Given the description of an element on the screen output the (x, y) to click on. 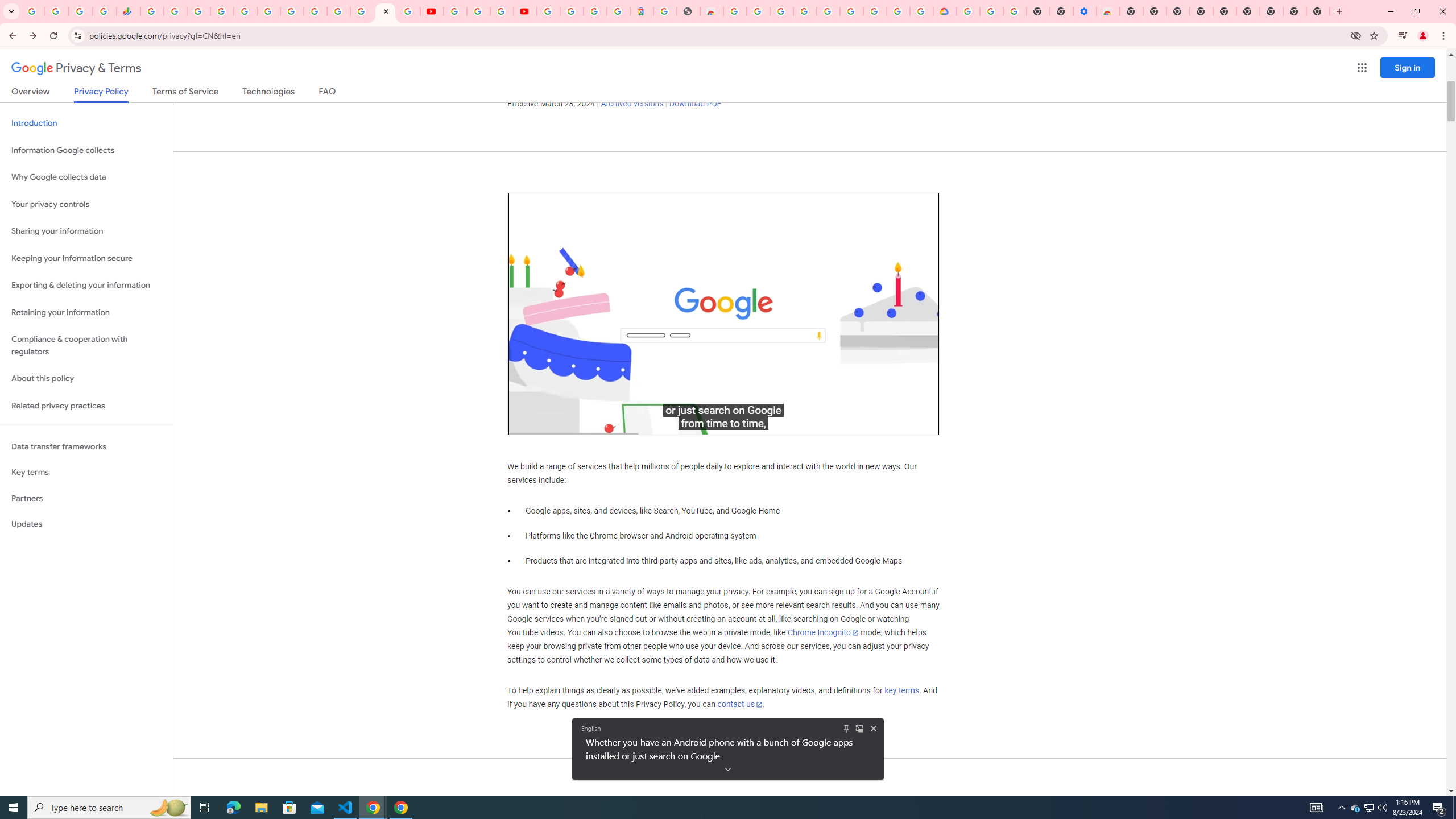
Google Account Help (850, 11)
Seek slider (723, 409)
Sign in - Google Accounts (827, 11)
Content Creator Programs & Opportunities - YouTube Creators (524, 11)
Archived versions (631, 103)
